Given the description of an element on the screen output the (x, y) to click on. 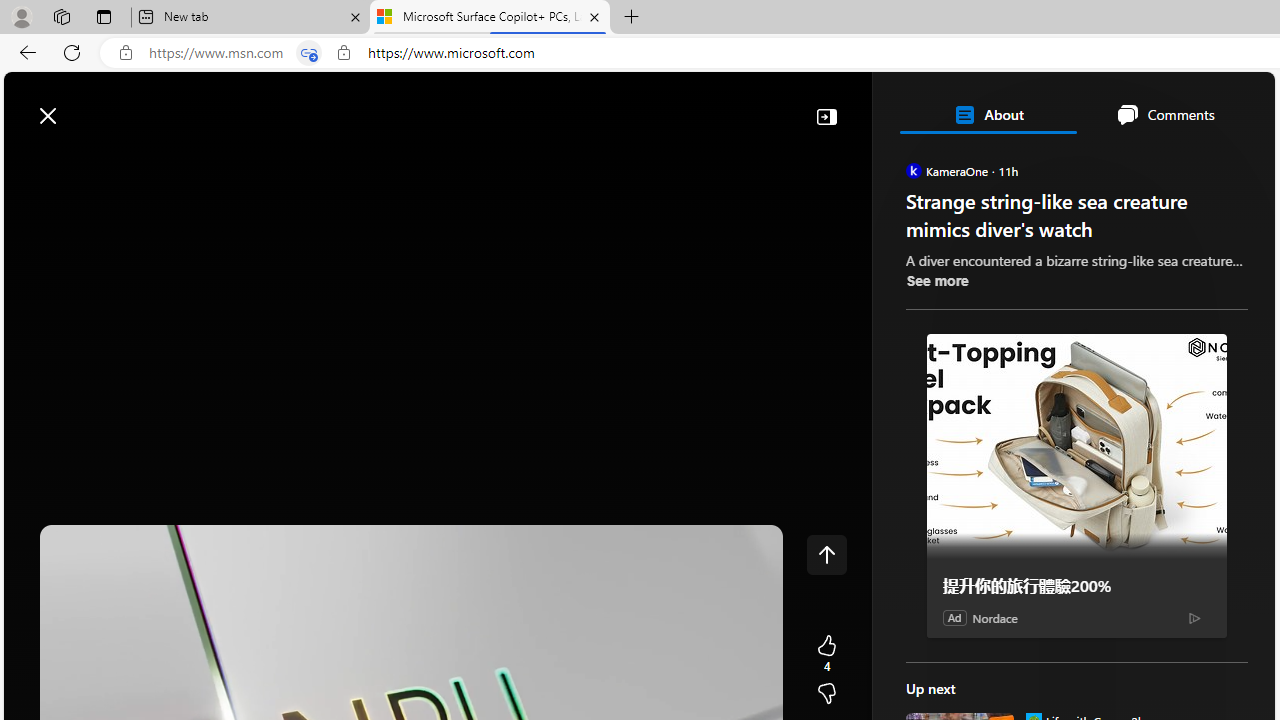
ABC News (974, 557)
Tabs in split screen (308, 53)
Comments (1165, 114)
KameraOne (912, 170)
Collapse (826, 115)
Open navigation menu (29, 162)
Notifications (1190, 105)
